Given the description of an element on the screen output the (x, y) to click on. 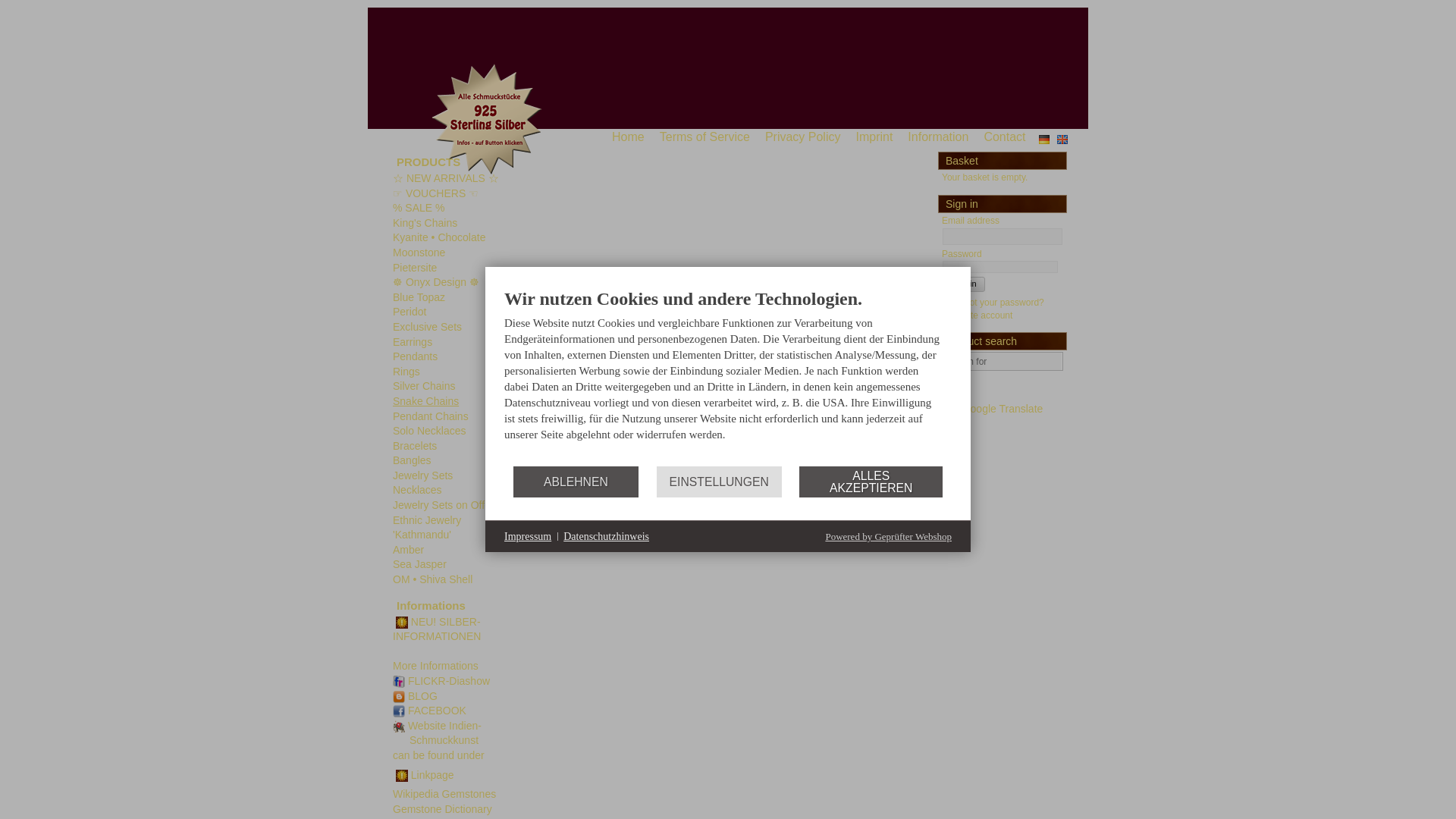
Peridot (409, 311)
Sea Jasper (419, 563)
NEU! SILBER-INFORMATIONEN (436, 628)
Pietersite (414, 267)
Amber (408, 549)
Information (941, 136)
Jewelry Sets (422, 475)
Silver Chains (423, 386)
Privacy Policy (806, 136)
Wikipedia Gemstones (444, 793)
